Given the description of an element on the screen output the (x, y) to click on. 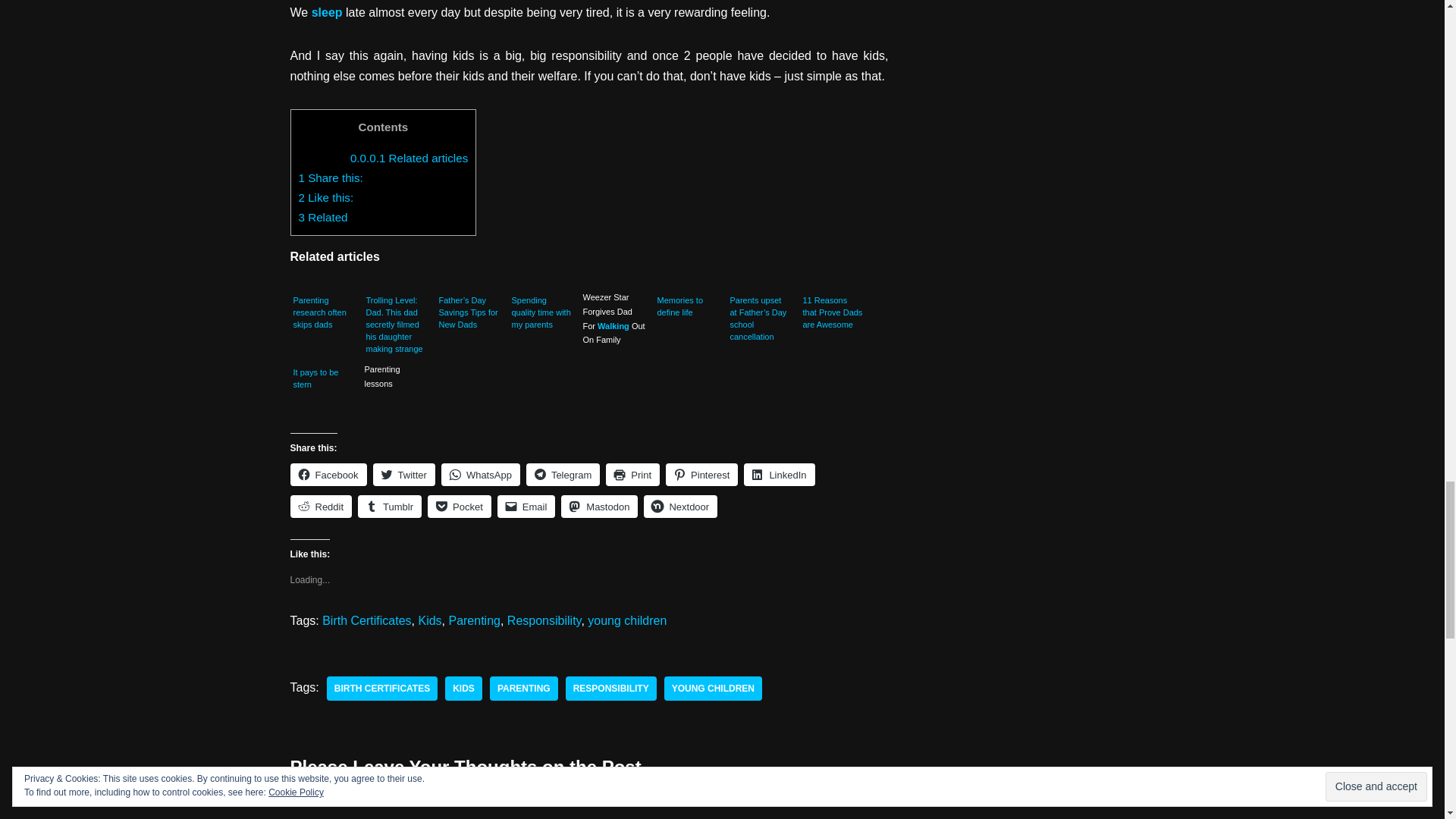
Click to share on Pinterest (701, 474)
Click to share on Facebook (327, 474)
0.0.0.1 Related articles (408, 157)
Click to share on Telegram (562, 474)
Walking (612, 325)
Click to share on Pocket (460, 506)
Click to print (632, 474)
sleep (326, 11)
Click to share on LinkedIn (778, 474)
Click to share on WhatsApp (480, 474)
